Given the description of an element on the screen output the (x, y) to click on. 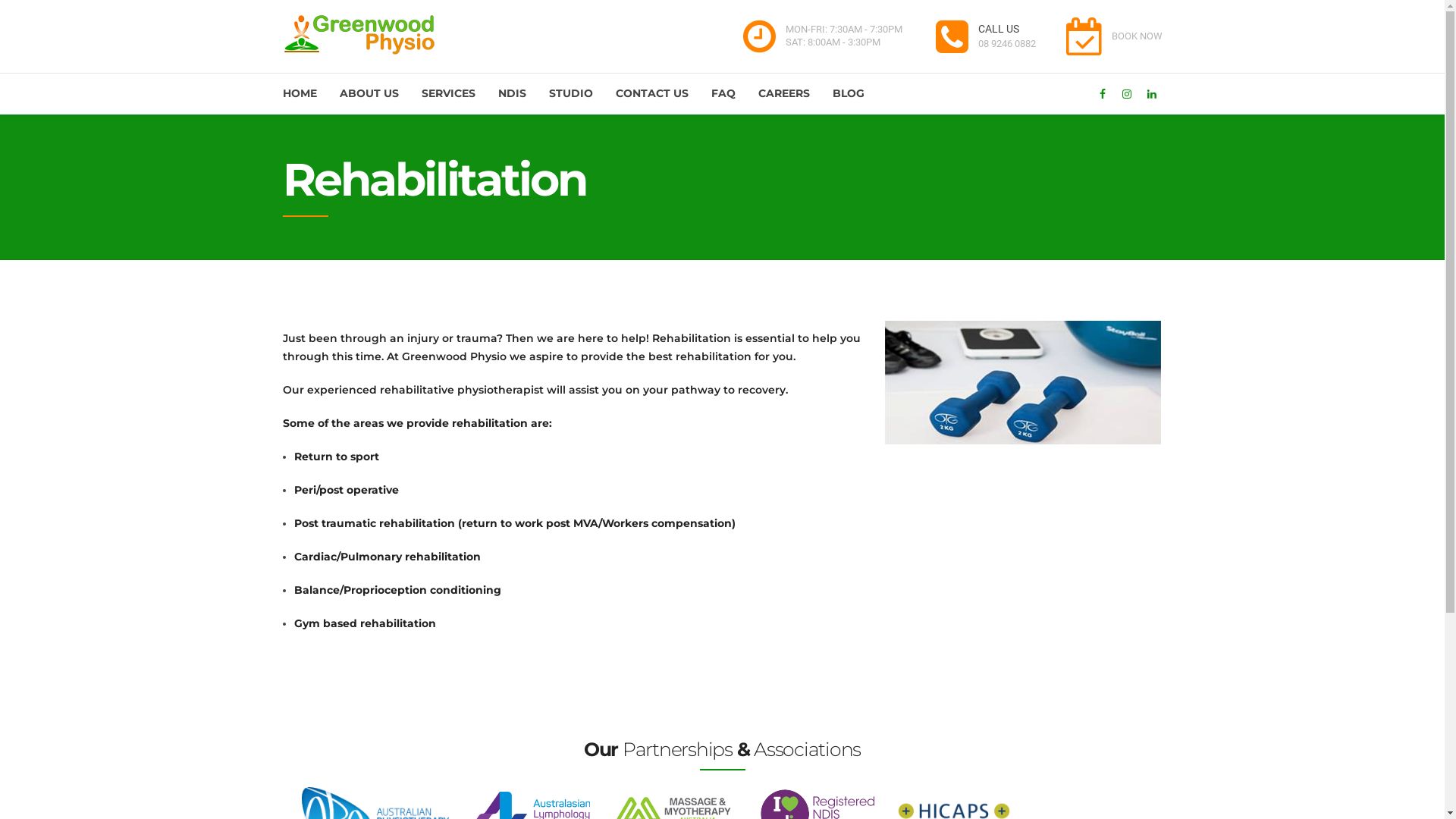
BLOG Element type: text (848, 93)
BOOK NOW Element type: text (1112, 36)
ABOUT US Element type: text (368, 93)
CAREERS Element type: text (783, 93)
FAQ Element type: text (723, 93)
SERVICES Element type: text (448, 93)
CONTACT US Element type: text (651, 93)
NDIS Element type: text (511, 93)
HOME Element type: text (299, 93)
STUDIO Element type: text (571, 93)
